Given the description of an element on the screen output the (x, y) to click on. 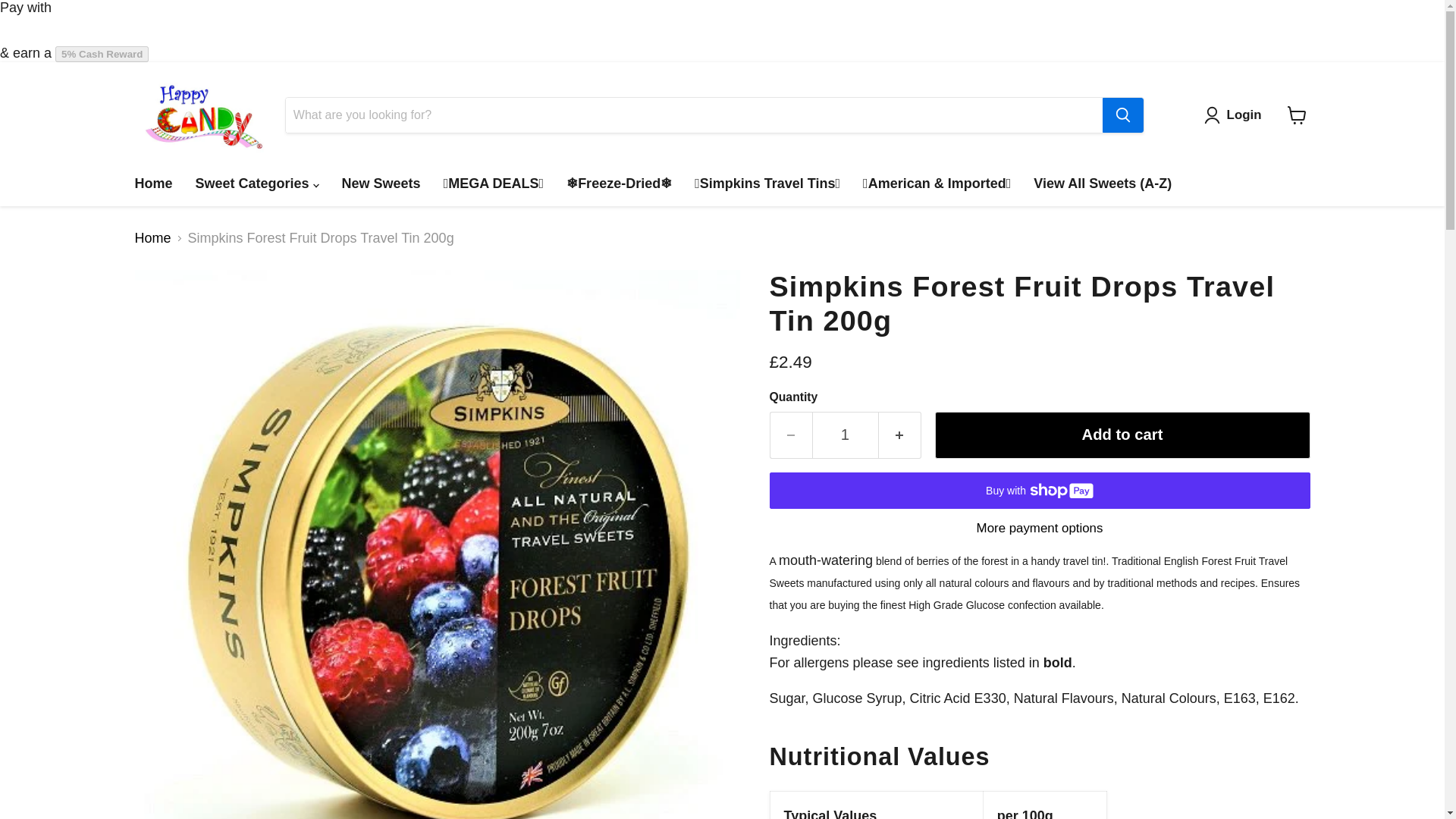
1 (843, 434)
Login (1236, 115)
View cart (1296, 114)
Home (152, 183)
